Given the description of an element on the screen output the (x, y) to click on. 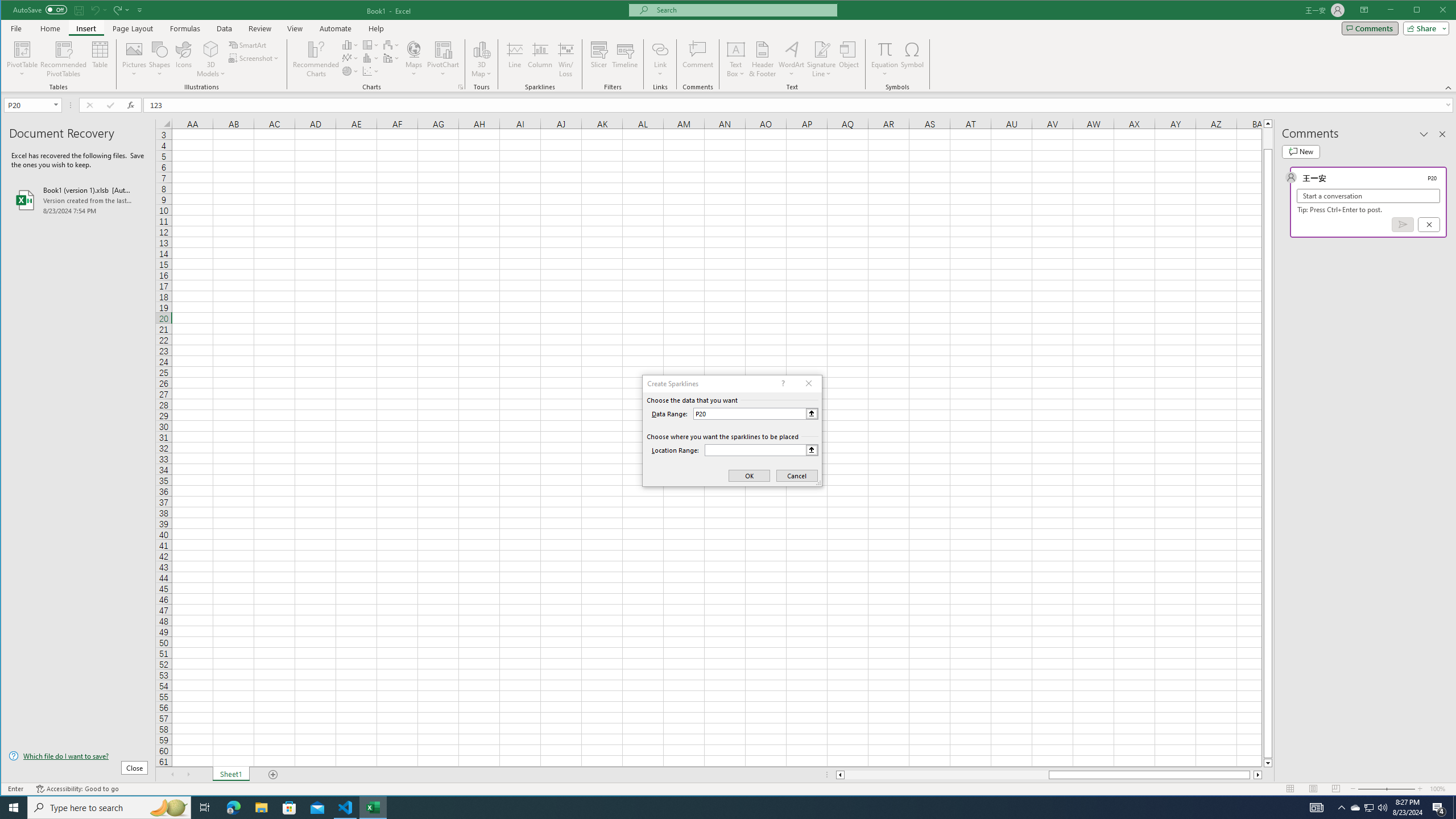
Signature Line (821, 59)
Maximize (1432, 11)
Insert Scatter (X, Y) or Bubble Chart (371, 70)
Symbol... (912, 59)
SmartArt... (248, 44)
Insert Combo Chart (391, 57)
